Given the description of an element on the screen output the (x, y) to click on. 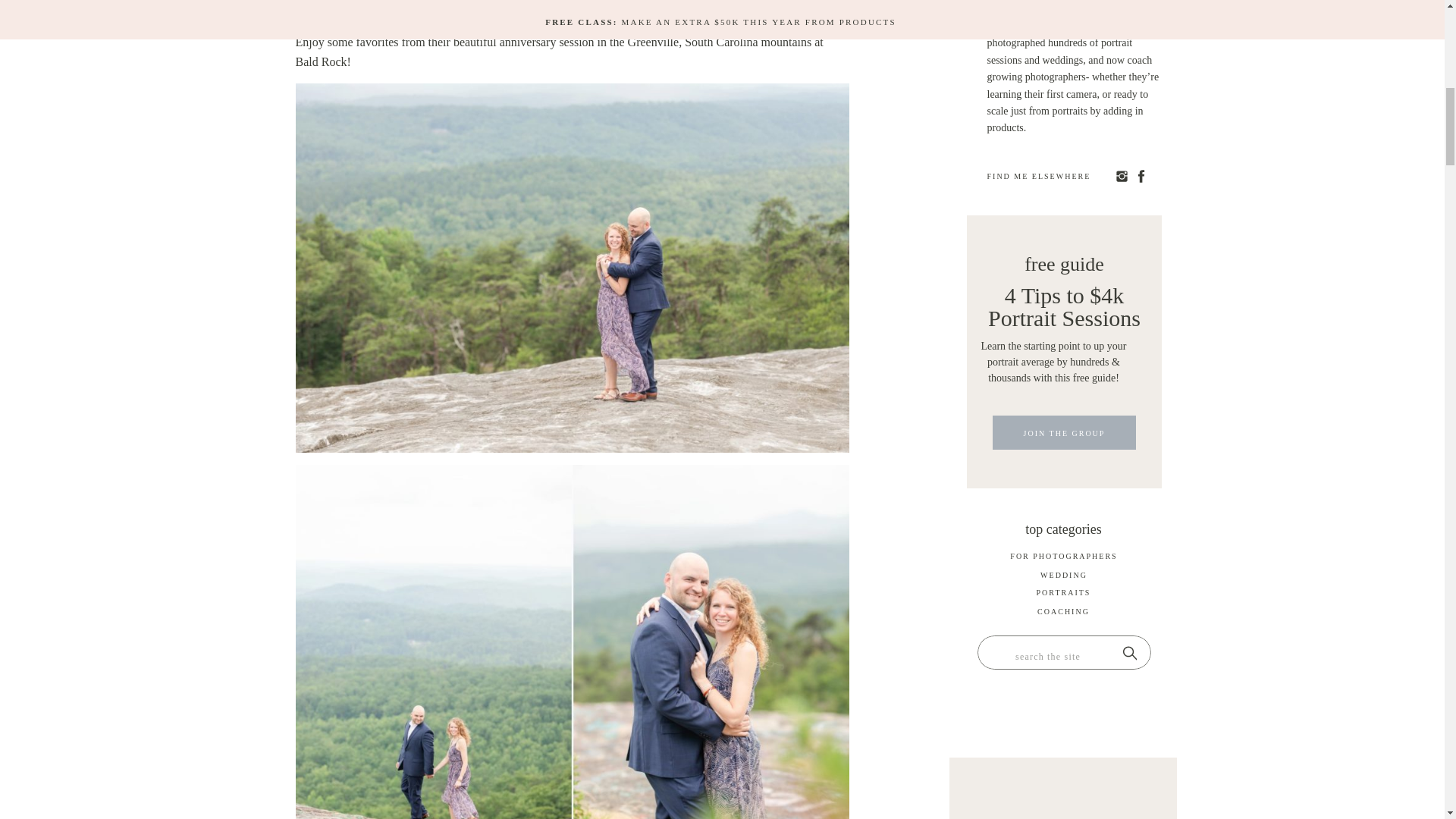
COACHING (1063, 614)
WEDDING (1064, 577)
free guide (1063, 260)
FOR PHOTOGRAPHERS (1063, 558)
JOIN THE GROUP (1063, 436)
PORTRAITS (1063, 595)
